Given the description of an element on the screen output the (x, y) to click on. 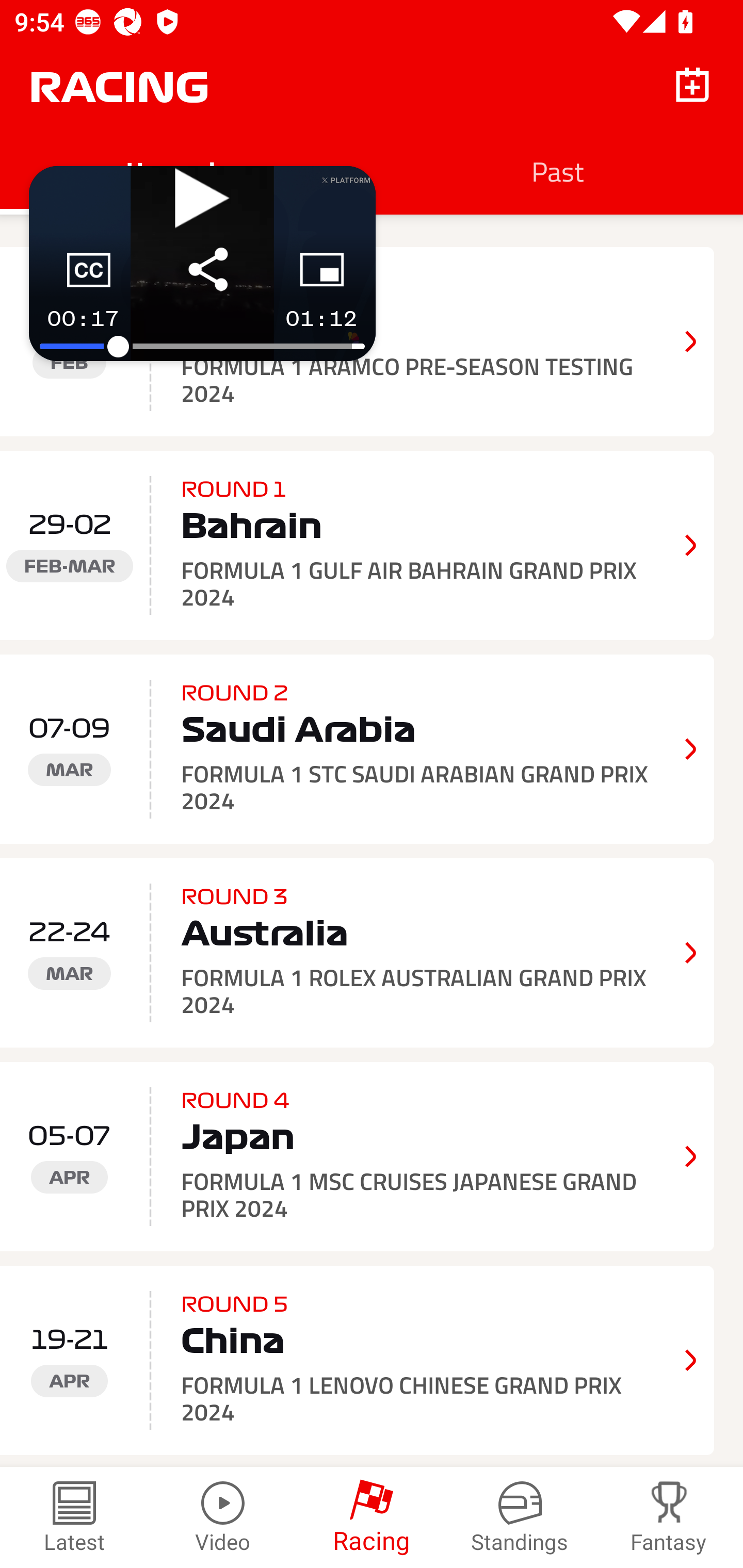
Past (557, 171)
Latest (74, 1517)
Video (222, 1517)
Standings (519, 1517)
Fantasy (668, 1517)
